Given the description of an element on the screen output the (x, y) to click on. 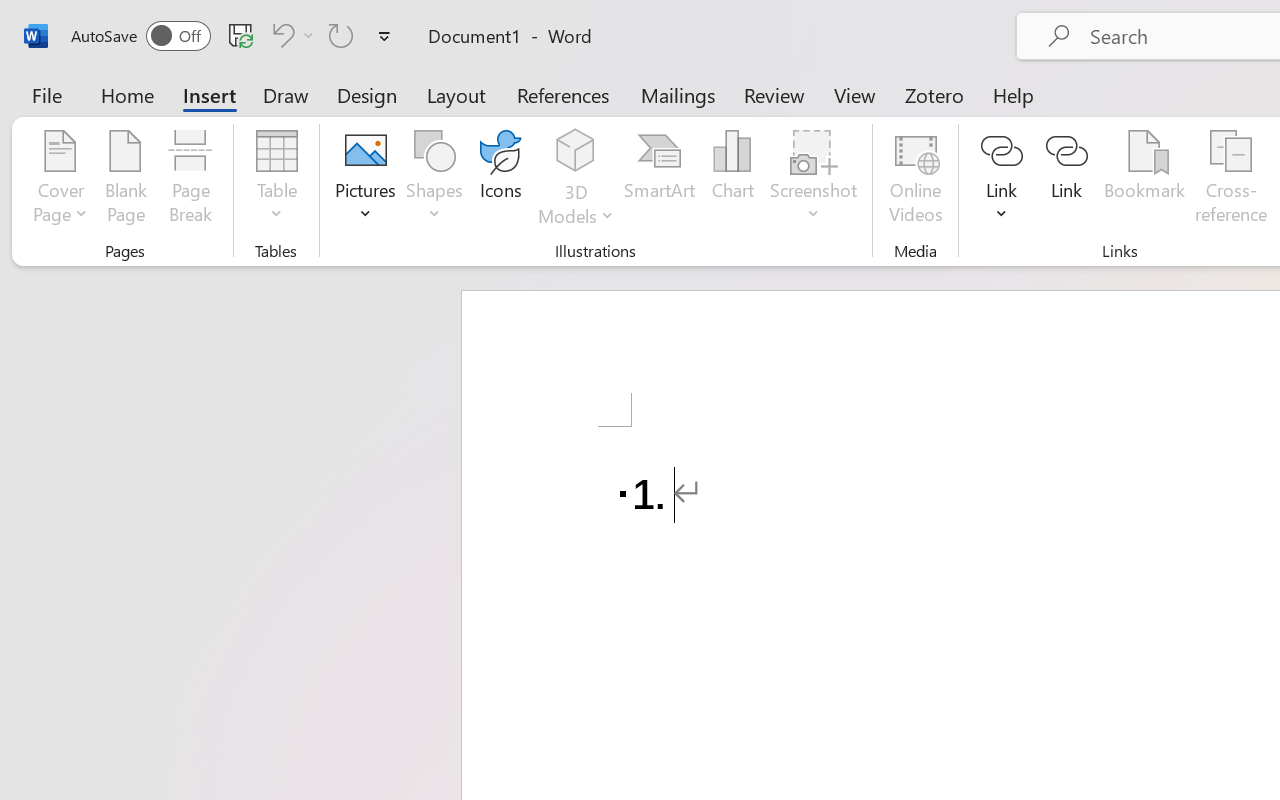
Cover Page (60, 179)
Blank Page (125, 179)
3D Models (576, 179)
Screenshot (813, 179)
Online Videos... (915, 179)
Table (276, 179)
Undo Number Default (280, 35)
Undo Number Default (290, 35)
Cross-reference... (1231, 179)
